Given the description of an element on the screen output the (x, y) to click on. 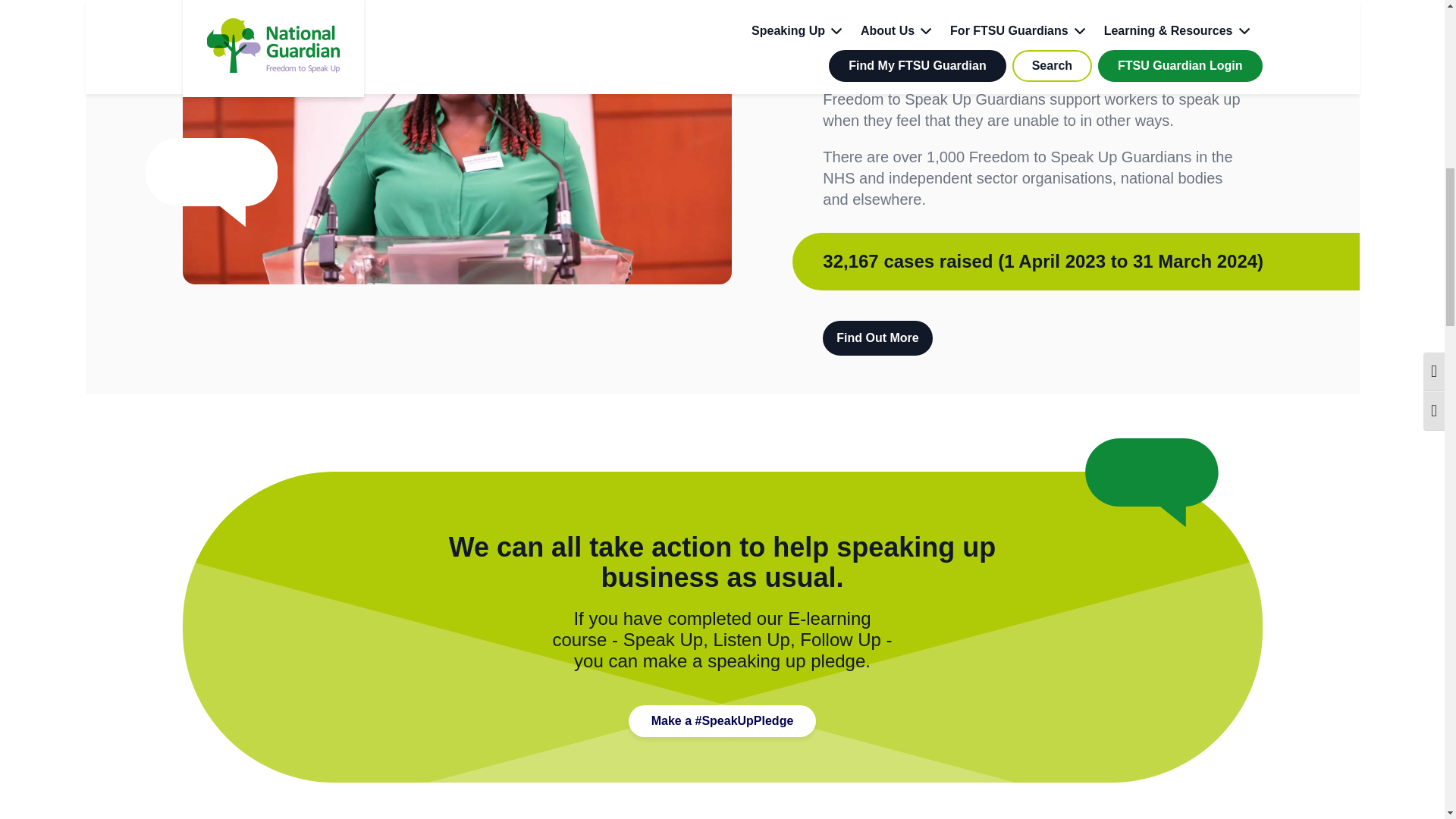
Find Out More (876, 338)
